Given the description of an element on the screen output the (x, y) to click on. 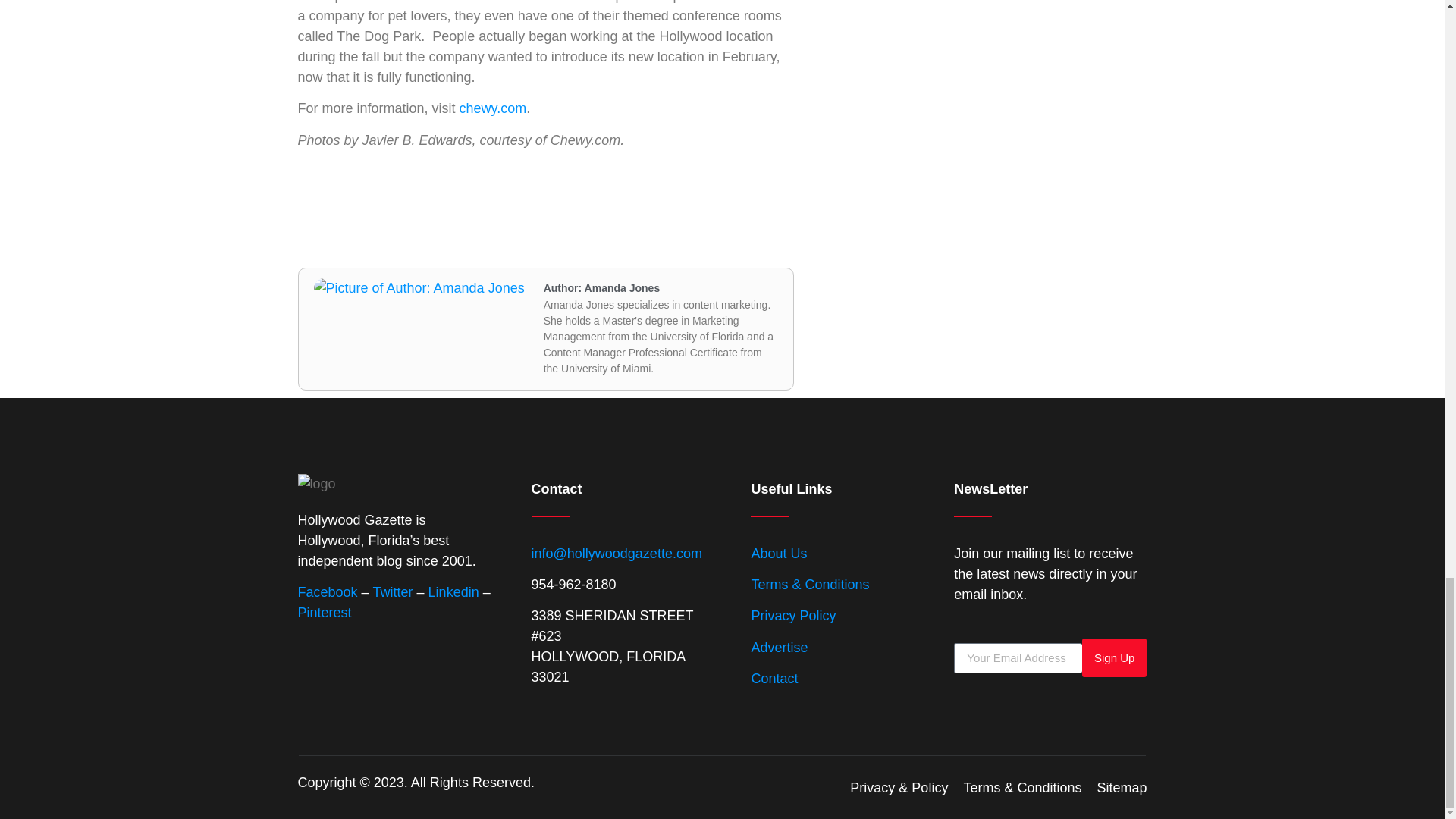
Twitter (392, 591)
Pinterest (323, 612)
chewy.com (493, 108)
Author: Amanda Jones (602, 287)
Linkedin (453, 591)
Facebook (326, 591)
